Given the description of an element on the screen output the (x, y) to click on. 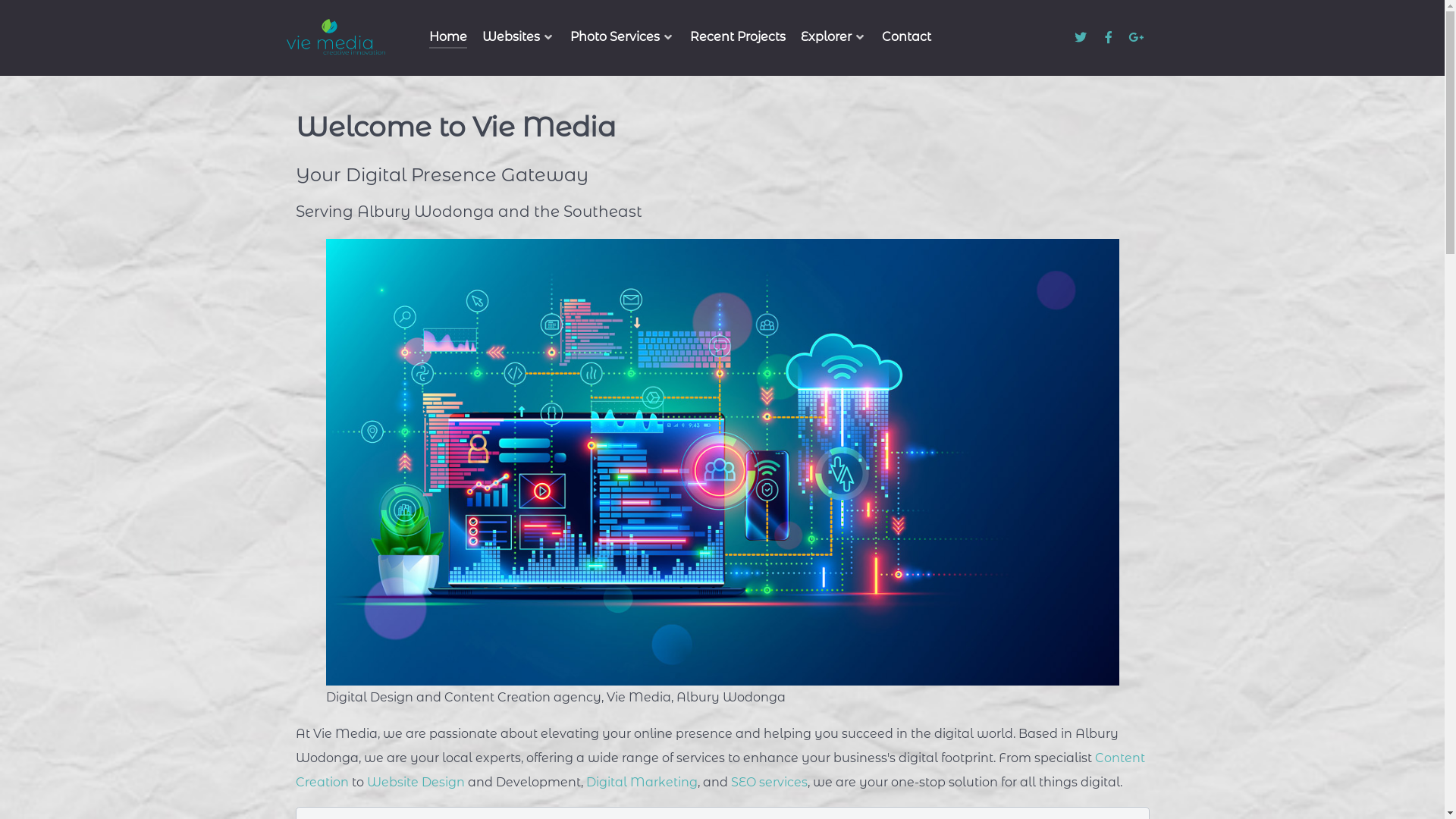
Home Element type: text (448, 38)
Websites Element type: text (518, 38)
Contact Element type: text (905, 38)
Recent Projects Element type: text (737, 38)
Vie Media Facebook Element type: hover (1109, 37)
Photo Services Element type: text (622, 38)
LinkedIn Simon Bayliss Element type: hover (1153, 37)
Explorer Element type: text (833, 38)
Digital Marketing Element type: text (640, 782)
Website Design Element type: text (415, 782)
SEO services Element type: text (769, 782)
Vie Media X Element type: hover (1081, 37)
Content Creation Element type: text (720, 769)
